Given the description of an element on the screen output the (x, y) to click on. 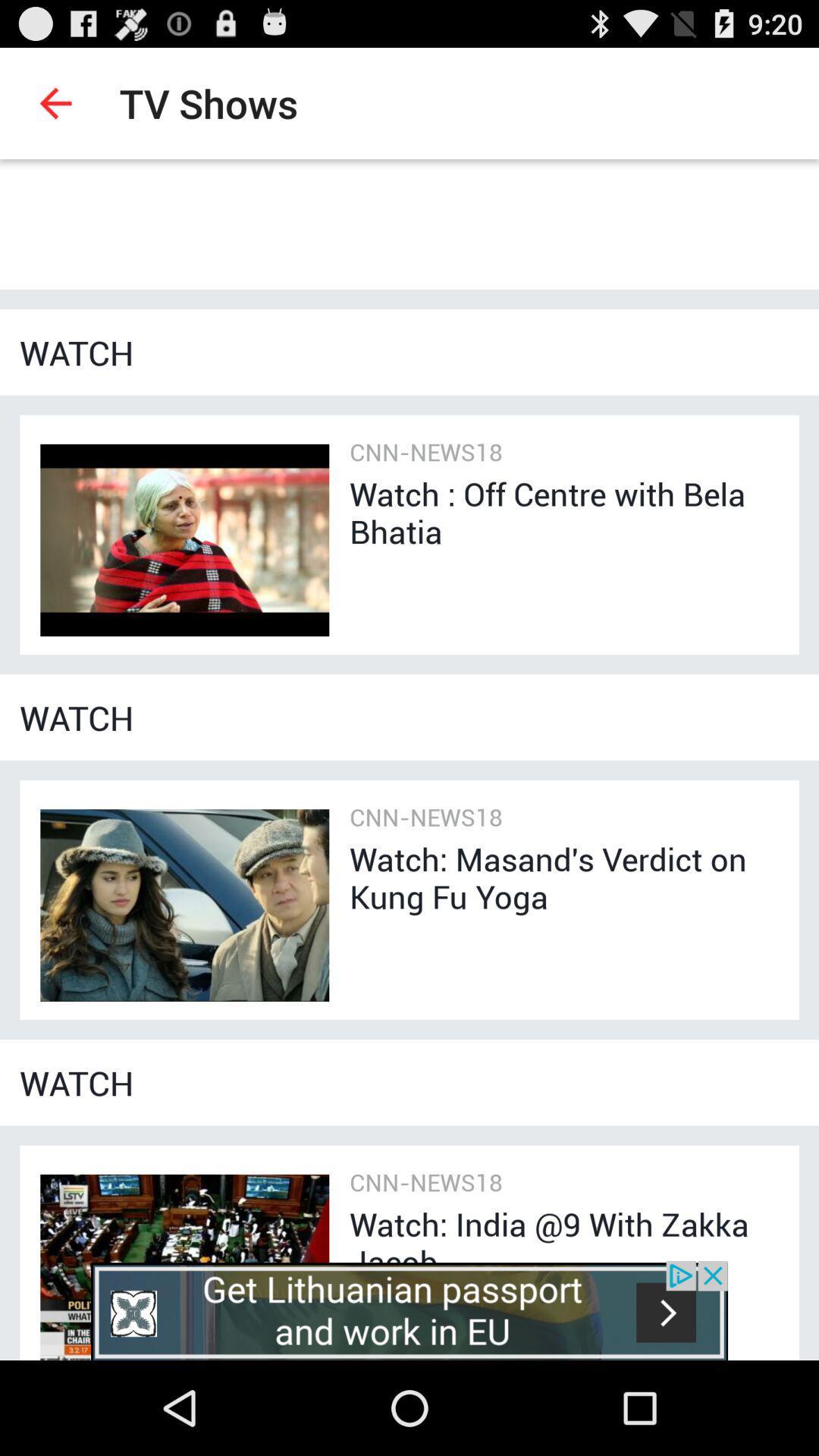
advertisement banner (409, 1310)
